Given the description of an element on the screen output the (x, y) to click on. 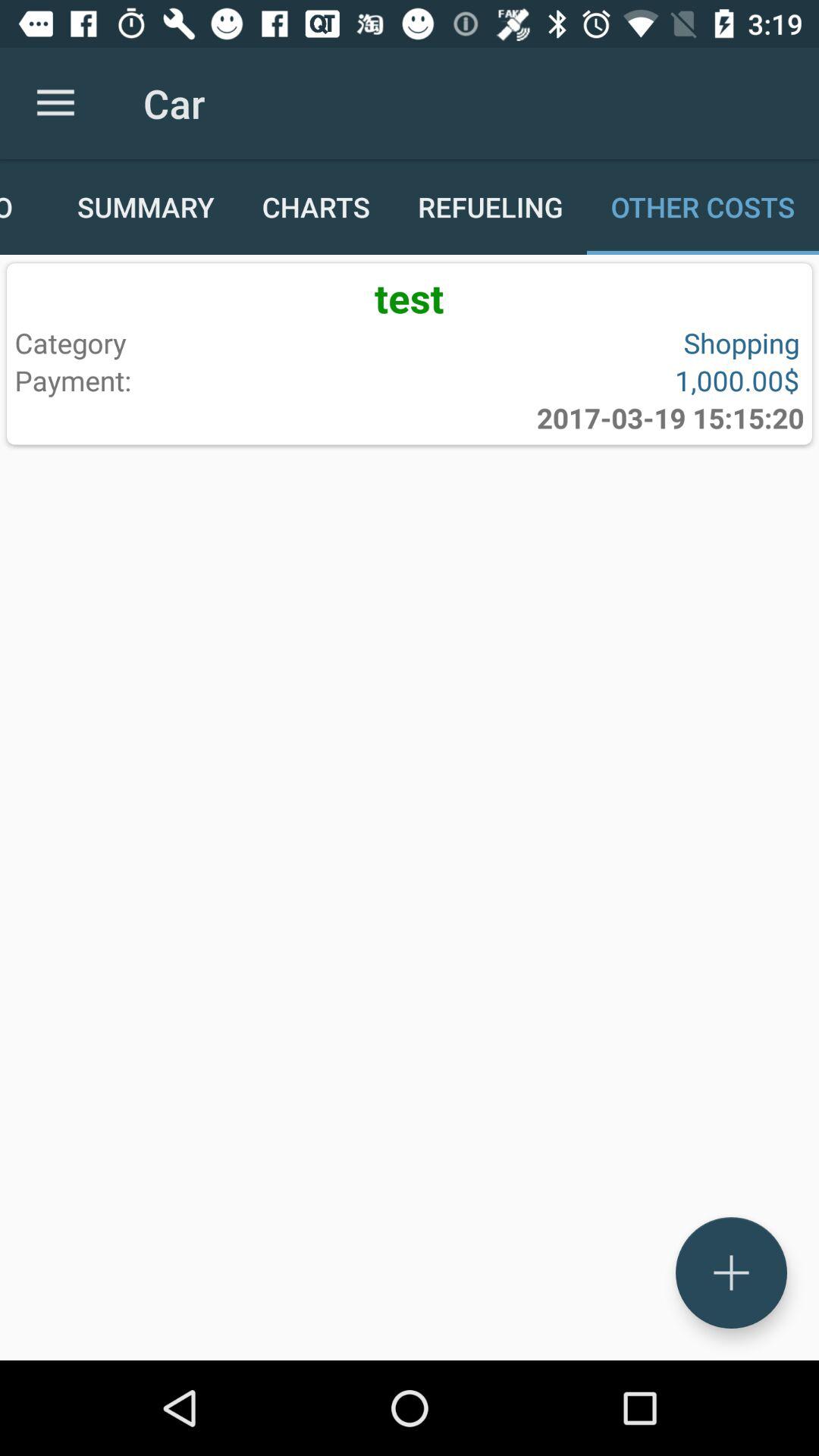
turn on icon next to payment: icon (670, 417)
